Given the description of an element on the screen output the (x, y) to click on. 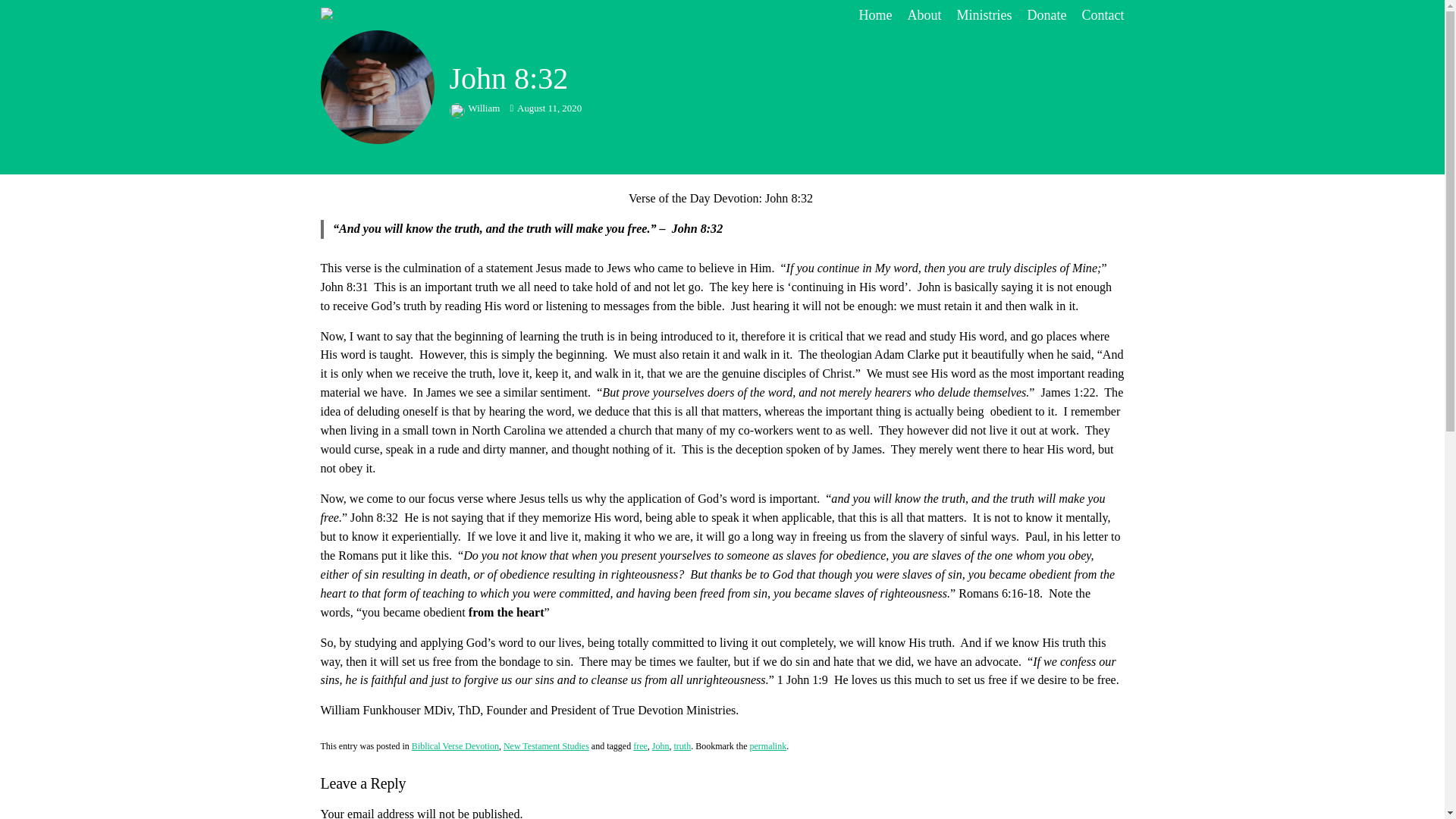
free (640, 746)
truth (681, 746)
permalink (767, 746)
William (475, 108)
New Testament Studies (546, 746)
About (923, 55)
Biblical Verse Devotion (455, 746)
True Devotion Ministries! (423, 54)
7:37 pm (544, 108)
Contact (1102, 55)
Donate (1047, 55)
August 11, 2020 (544, 108)
View all posts by William (475, 108)
Ministries (983, 55)
John (660, 746)
